Given the description of an element on the screen output the (x, y) to click on. 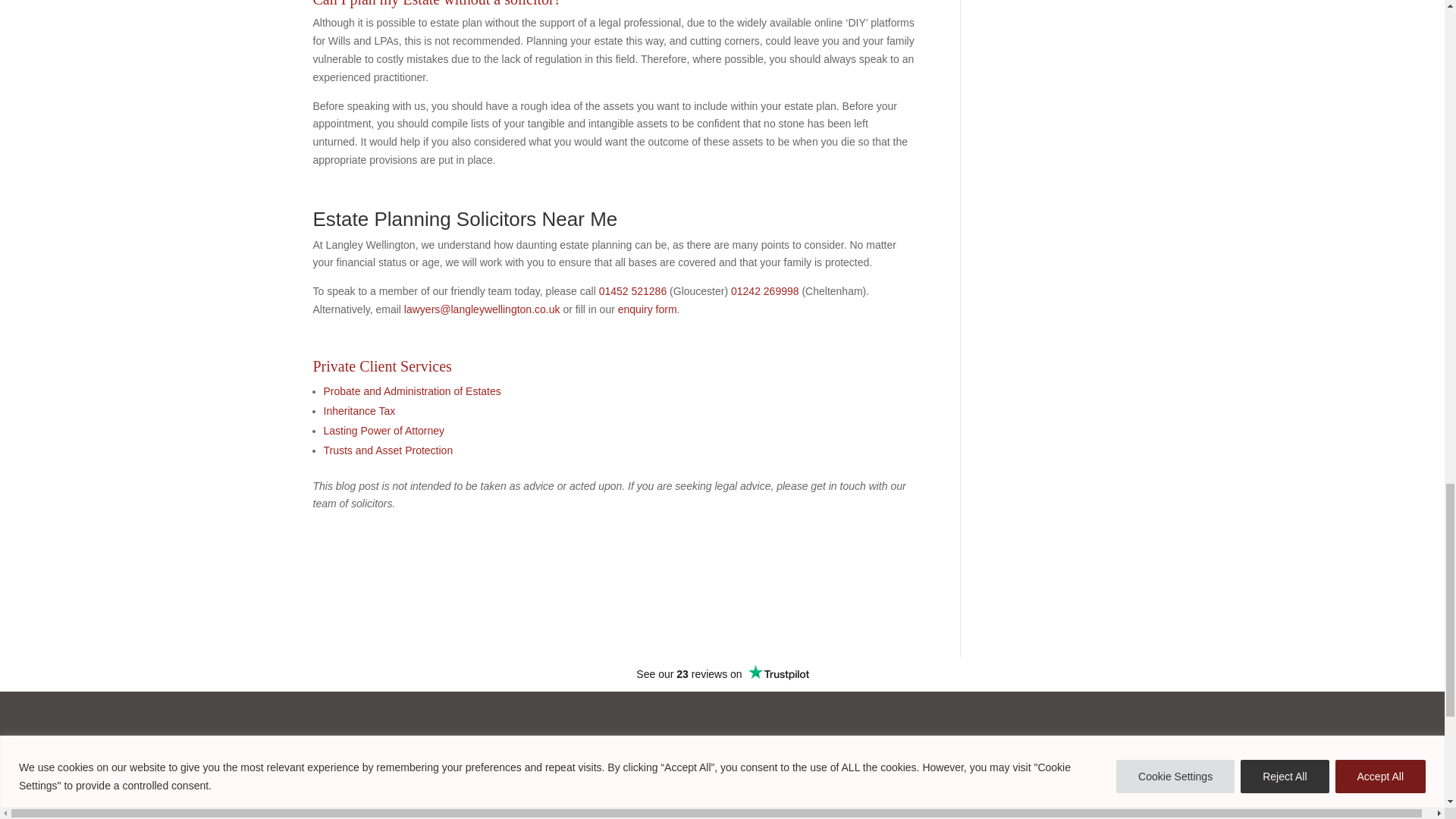
Follow on LinkedIn (221, 814)
Follow on Twitter (154, 814)
Follow on Instagram (188, 814)
Follow on Youtube (255, 814)
Customer reviews powered by Trustpilot (722, 674)
Follow on Facebook (121, 814)
